Given the description of an element on the screen output the (x, y) to click on. 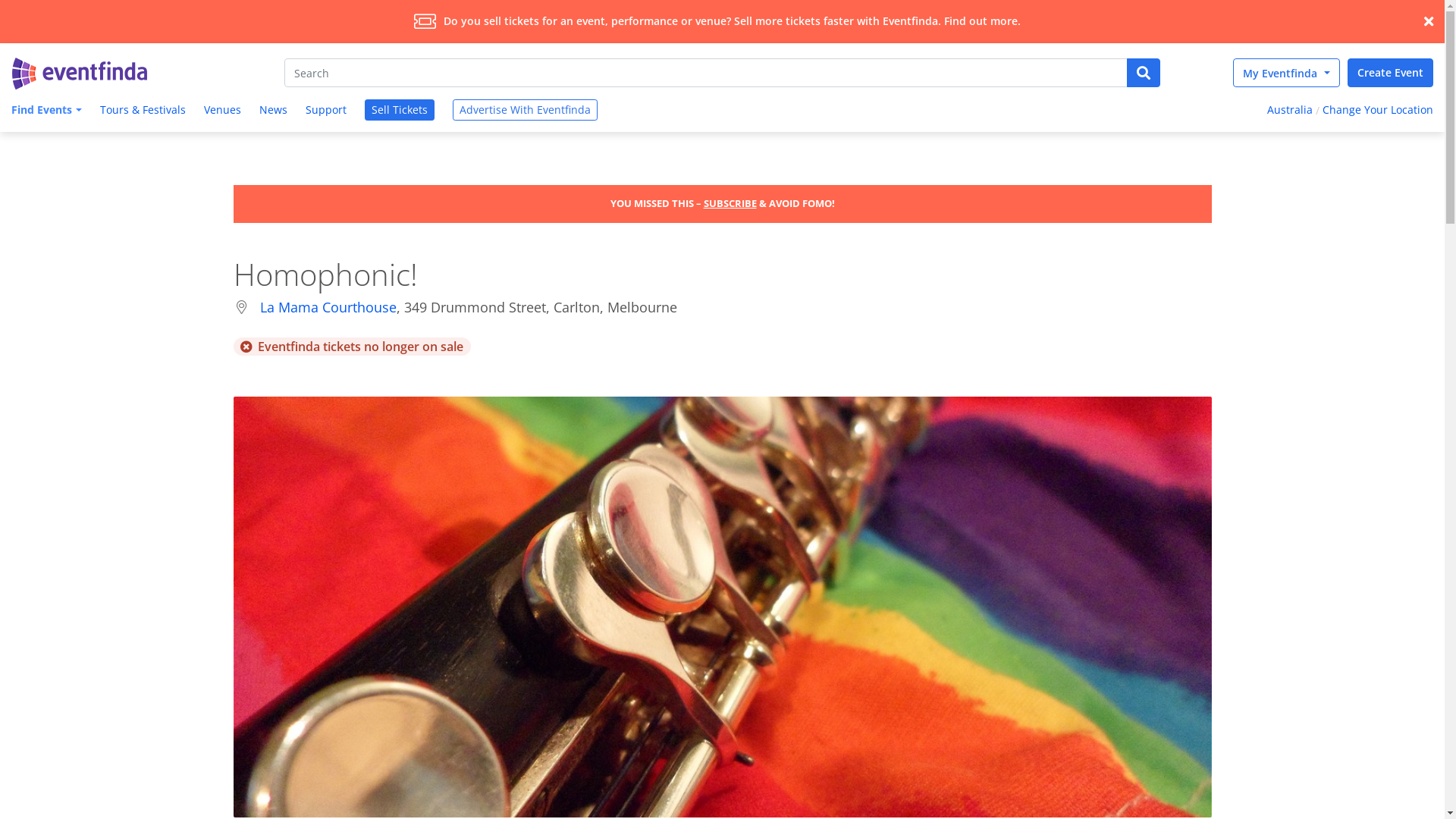
Change Your Location Element type: text (1379, 110)
Search Element type: hover (705, 72)
SUBSCRIBE Element type: text (729, 203)
Advertise With Eventfinda Element type: text (524, 109)
Support Element type: text (326, 110)
Australia Element type: text (1287, 110)
Create Event Element type: text (1390, 72)
Venues Element type: text (222, 110)
My Eventfinda Element type: text (1286, 72)
eventfinda.com.au - What's on in Australia Element type: text (79, 73)
Find Events Element type: text (44, 110)
Tours & Festivals Element type: text (142, 110)
News Element type: text (272, 110)
La Mama Courthouse Element type: text (327, 307)
Homophonic! Element type: hover (722, 607)
Sell Tickets Element type: text (399, 109)
